Given the description of an element on the screen output the (x, y) to click on. 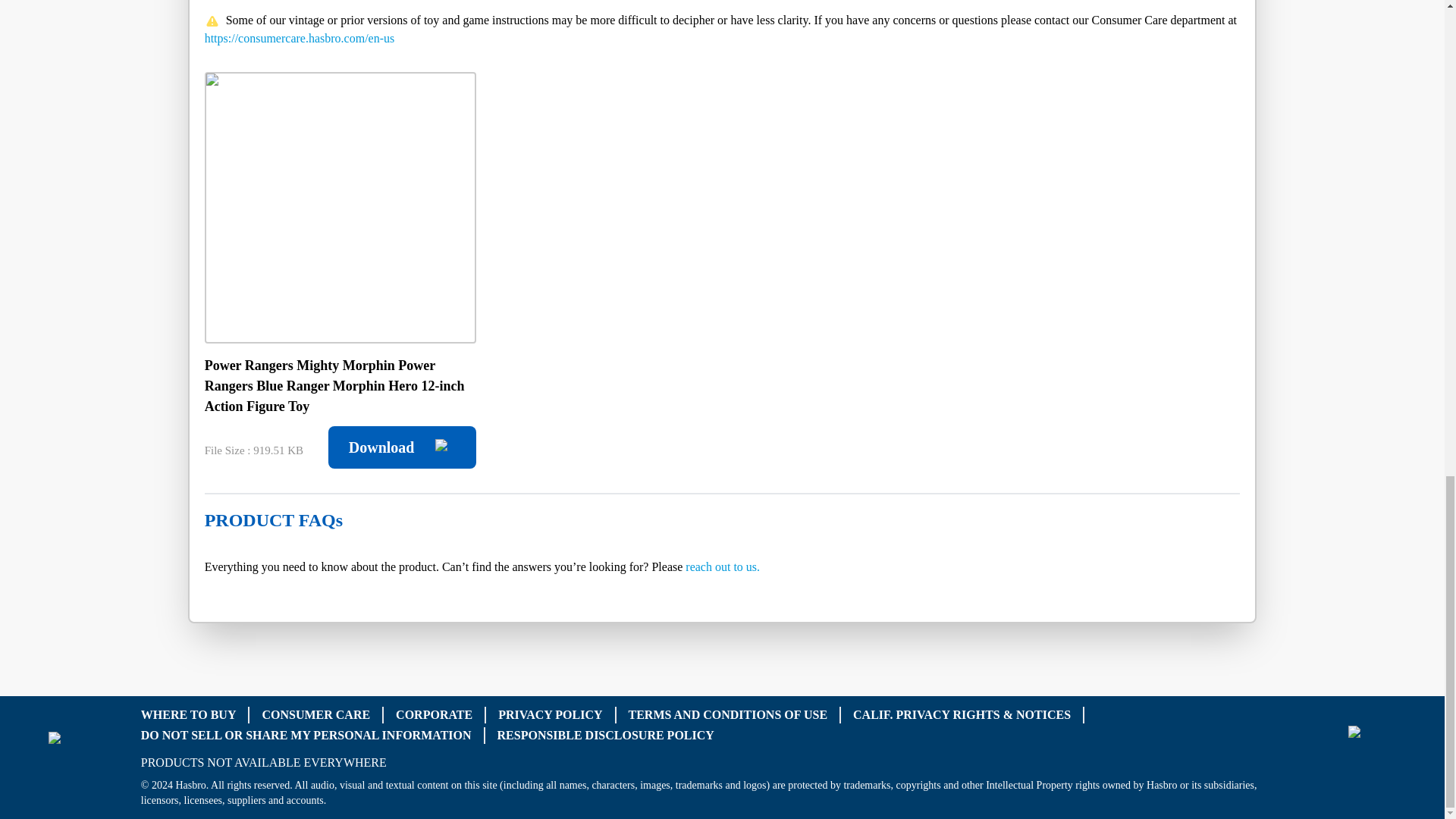
WHERE TO BUY (188, 713)
DO NOT SELL OR SHARE MY PERSONAL INFORMATION (306, 735)
reach out to us. (722, 566)
TERMS AND CONDITIONS OF USE (727, 713)
CORPORATE (433, 713)
RESPONSIBLE DISCLOSURE POLICY (605, 735)
CONSUMER CARE (315, 713)
PRIVACY POLICY (549, 713)
Download (402, 446)
